Given the description of an element on the screen output the (x, y) to click on. 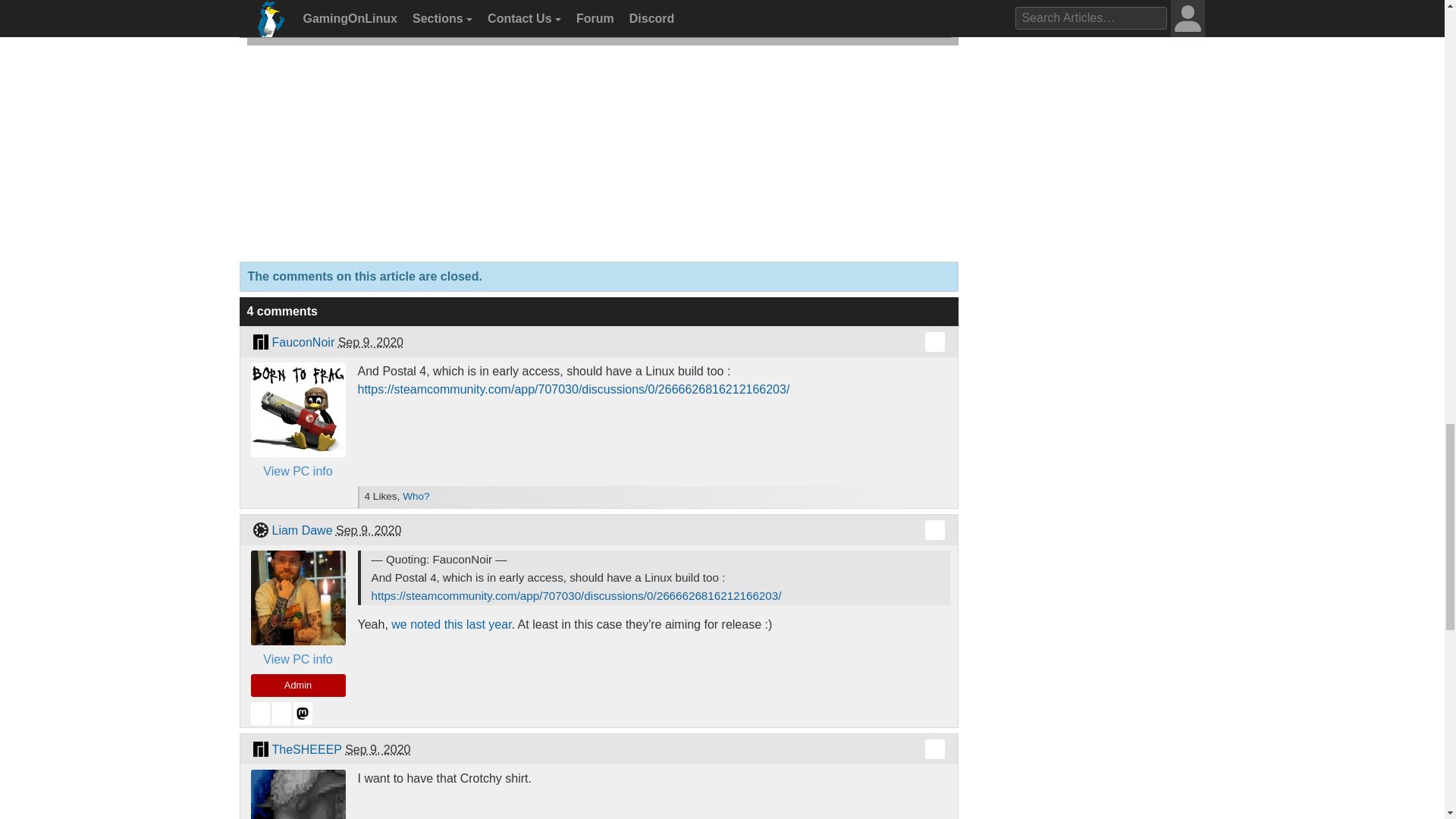
Manjaro (259, 342)
Link to this comment (934, 529)
Manjaro (259, 749)
Kubuntu (259, 529)
Link to this comment (934, 342)
Link to this comment (934, 749)
